Given the description of an element on the screen output the (x, y) to click on. 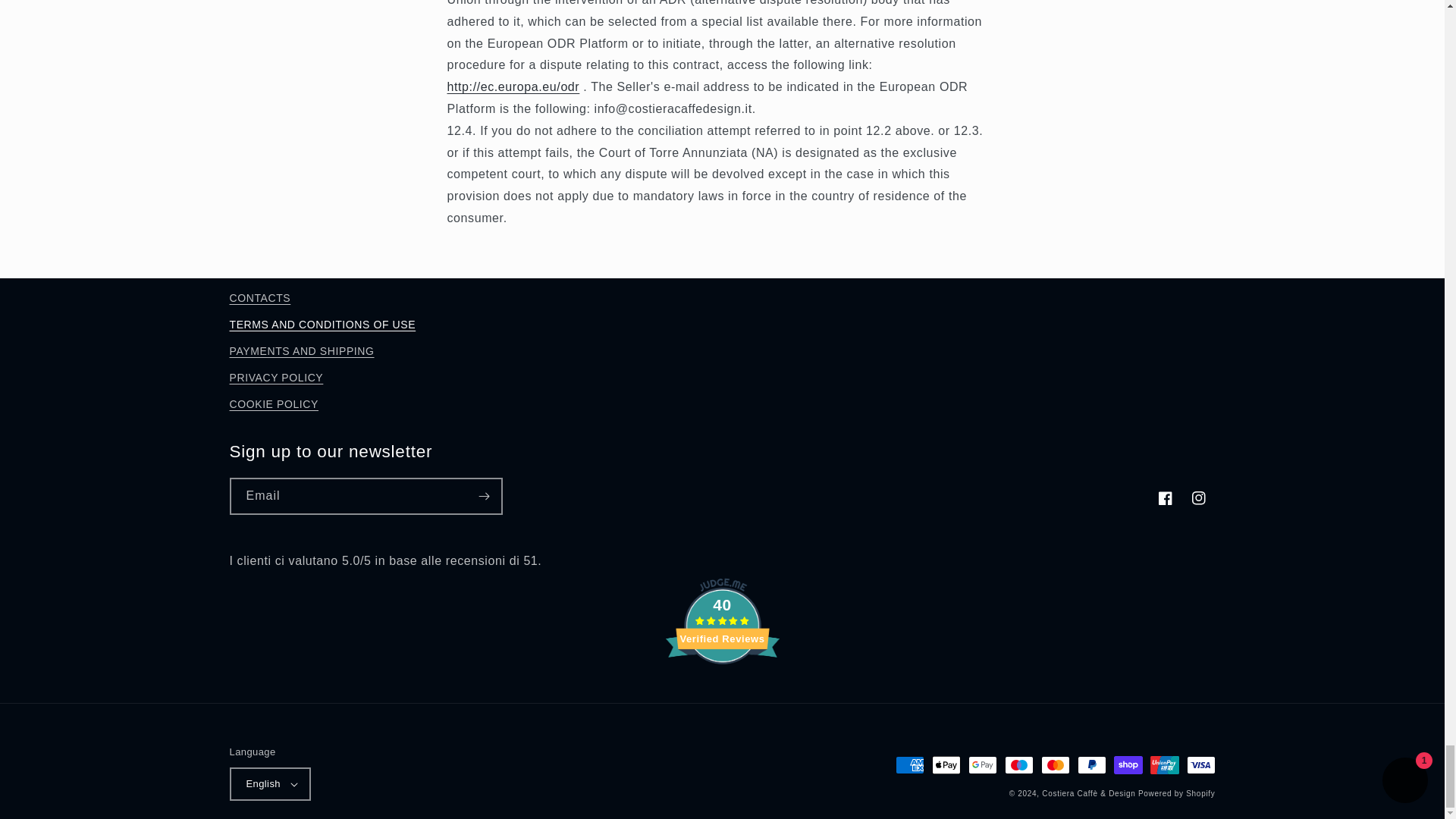
Facebook (1164, 498)
TERMS AND CONDITIONS OF USE (321, 325)
Instagram (1197, 498)
PRIVACY POLICY (275, 377)
CONTACTS (258, 300)
PAYMENTS AND SHIPPING (301, 351)
COOKIE POLICY (273, 404)
